Given the description of an element on the screen output the (x, y) to click on. 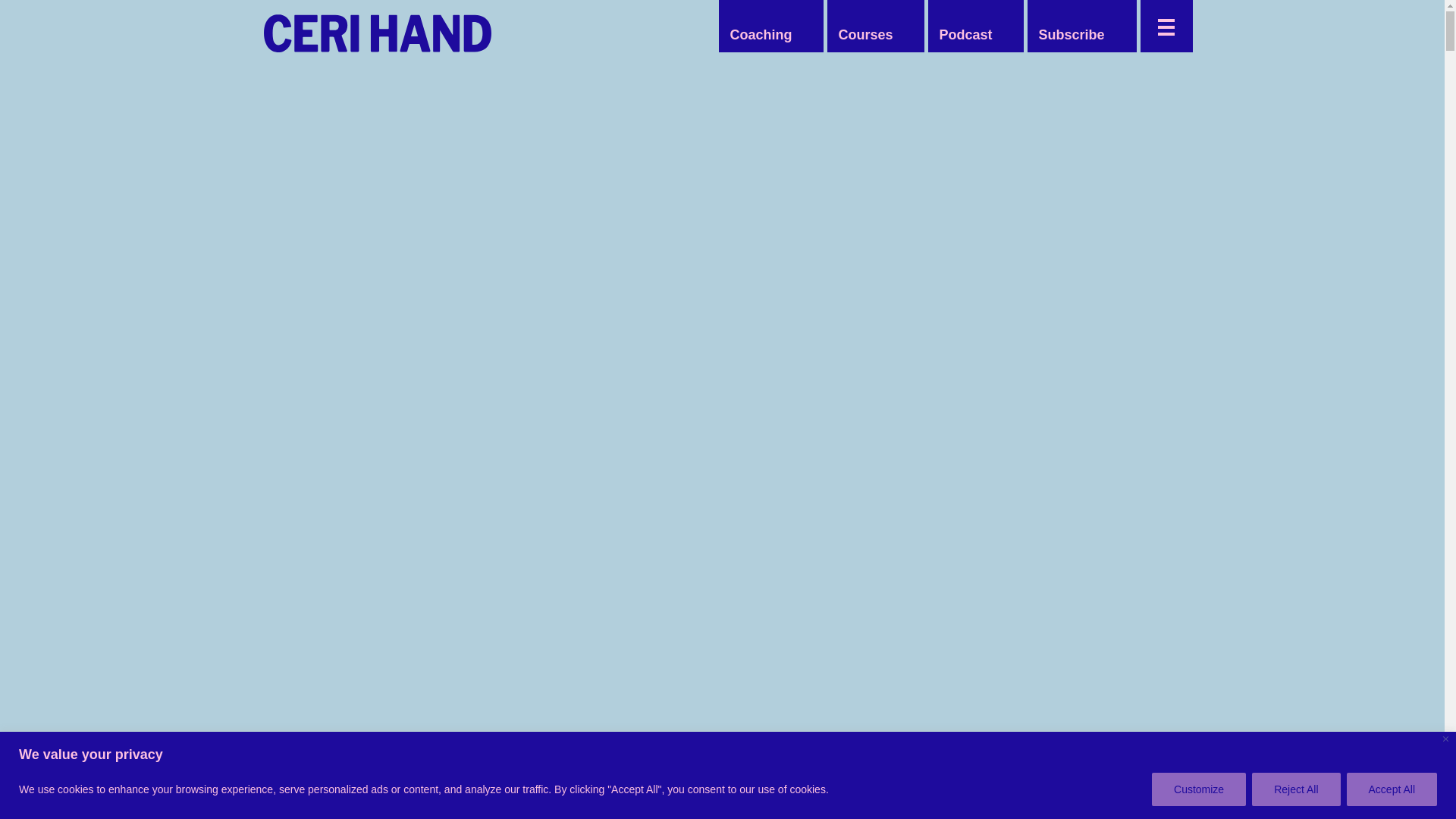
Coaching (760, 34)
Reject All (1295, 788)
Accept All (1391, 788)
Subscribe (1070, 34)
Podcast (964, 34)
Customize (1198, 788)
Courses (864, 34)
